Given the description of an element on the screen output the (x, y) to click on. 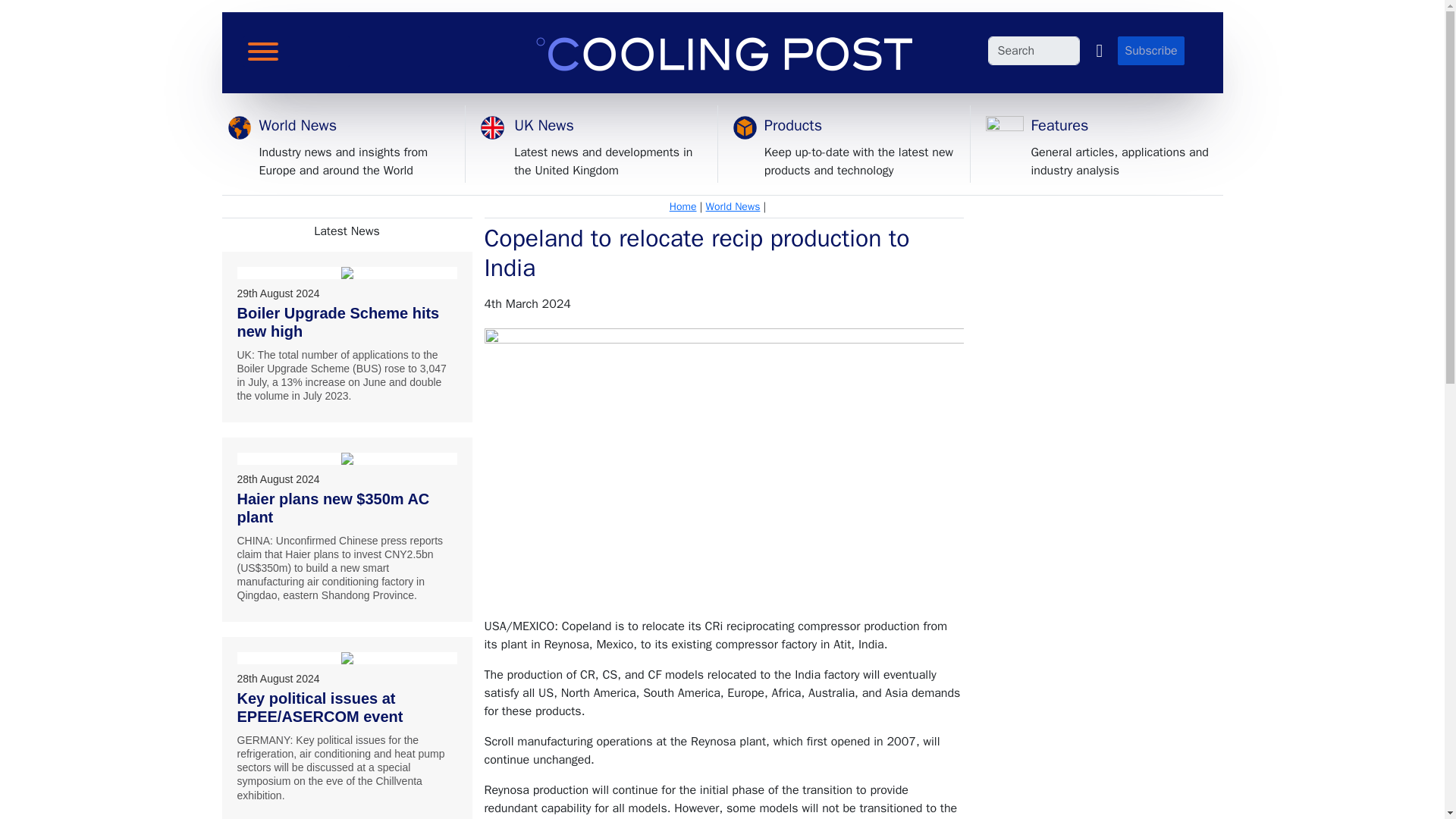
UK News (543, 125)
Boiler Upgrade Scheme hits new high (346, 272)
Products (793, 125)
Subscribe (1150, 43)
Features (1059, 125)
Subscribe (1150, 50)
Home (683, 205)
World News (297, 125)
